Given the description of an element on the screen output the (x, y) to click on. 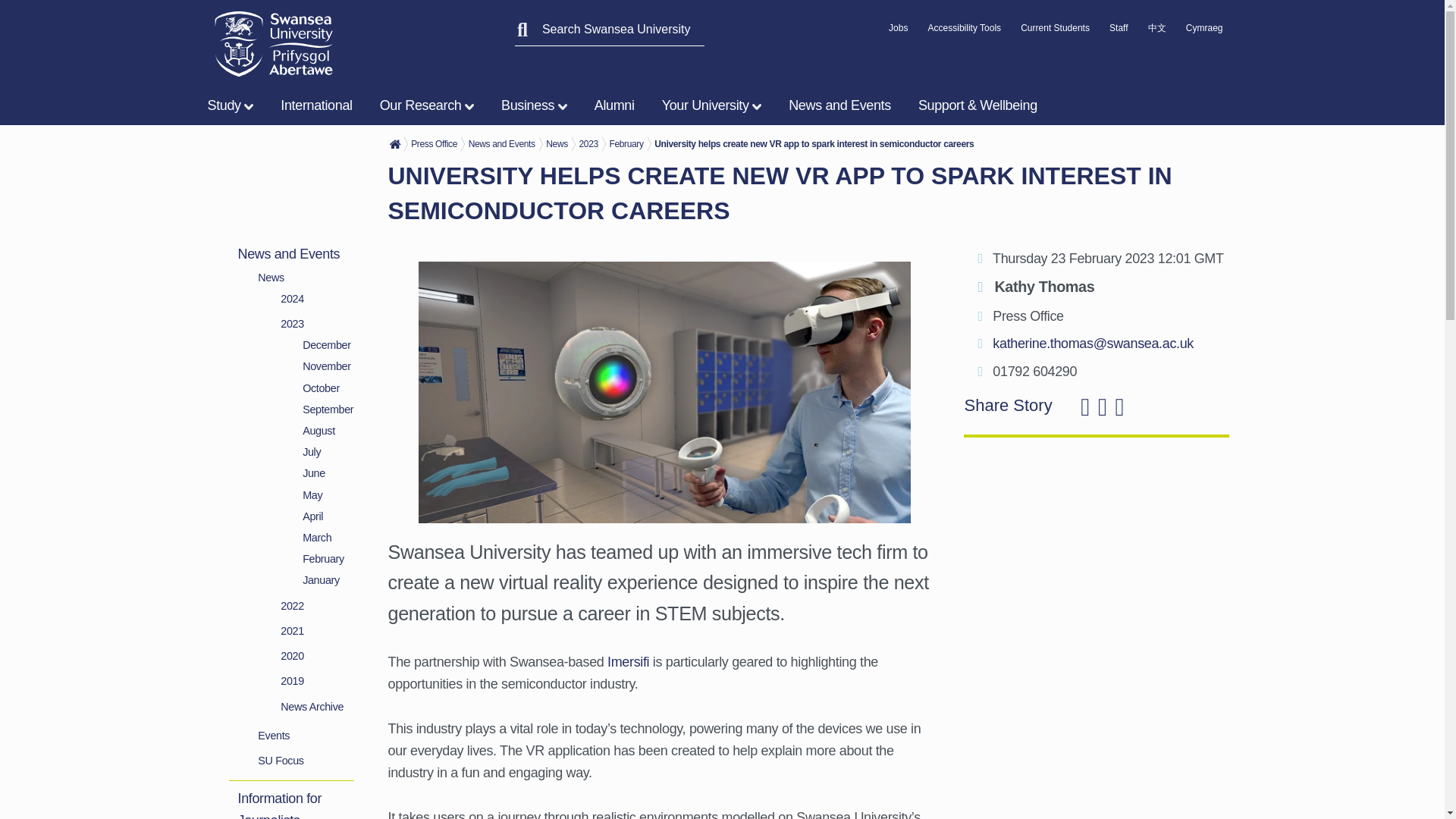
Current Students (1054, 31)
Staff (1117, 31)
Cymraeg (1204, 31)
Jobs (897, 31)
Study (234, 105)
Jobs at Swansea University (897, 31)
Accessibility Tools (964, 31)
Accessibility Tools (964, 31)
